Given the description of an element on the screen output the (x, y) to click on. 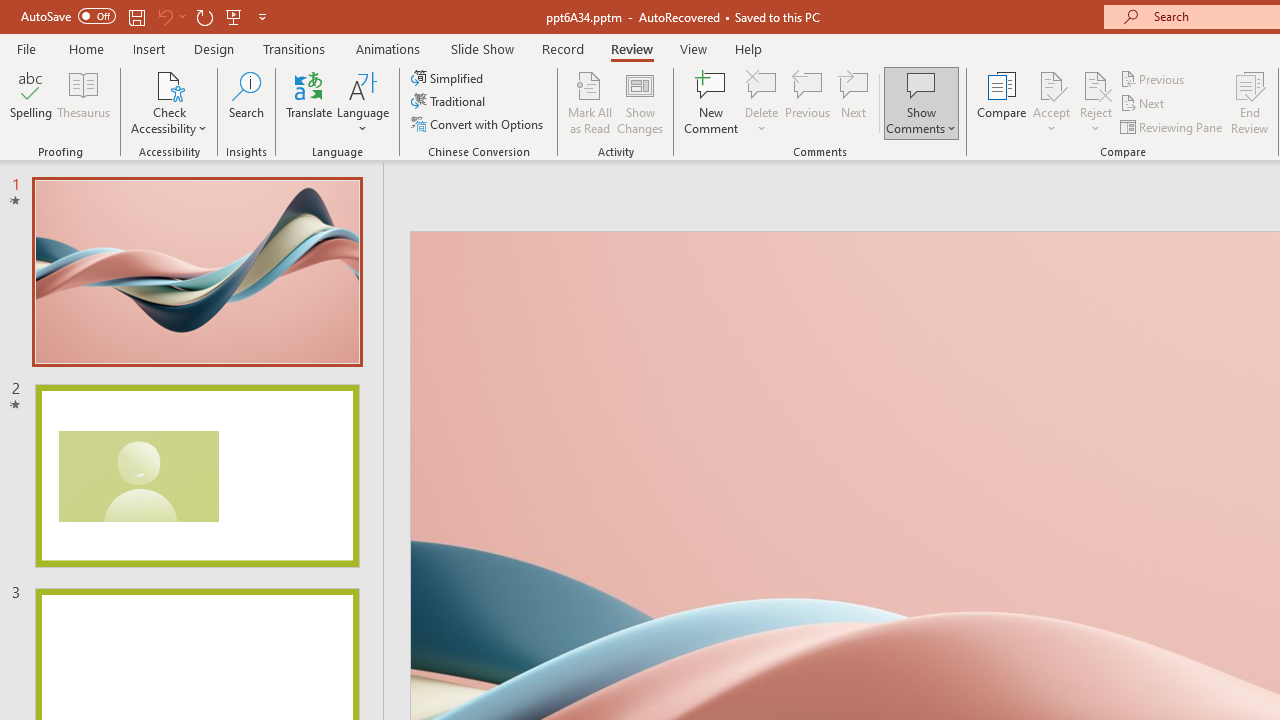
Accept (1051, 102)
Previous (1153, 78)
Check Accessibility (169, 102)
Translate (309, 102)
Reject (1096, 102)
Show Comments (921, 102)
Delete (762, 84)
